Given the description of an element on the screen output the (x, y) to click on. 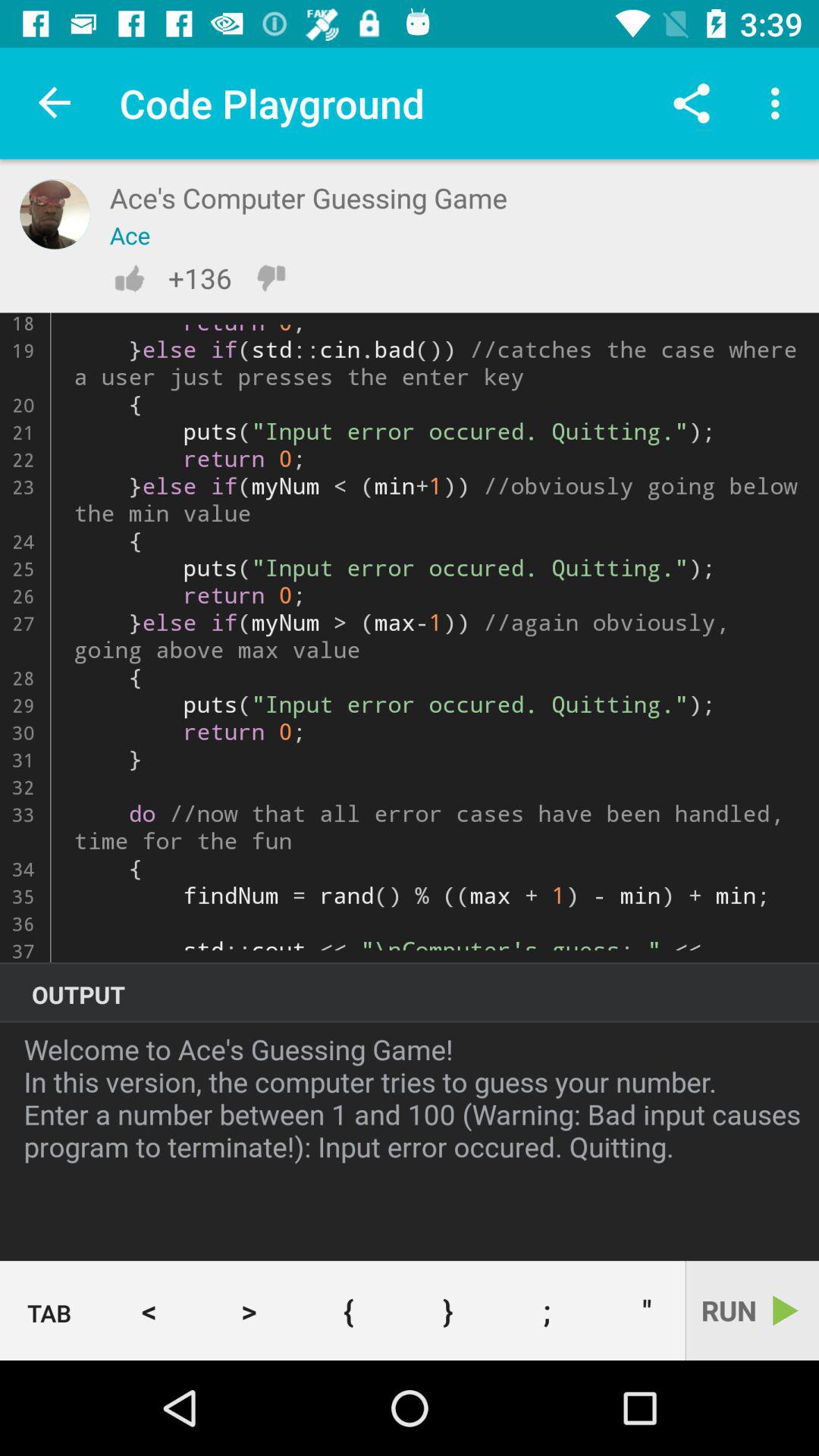
launch } button (447, 1310)
